Given the description of an element on the screen output the (x, y) to click on. 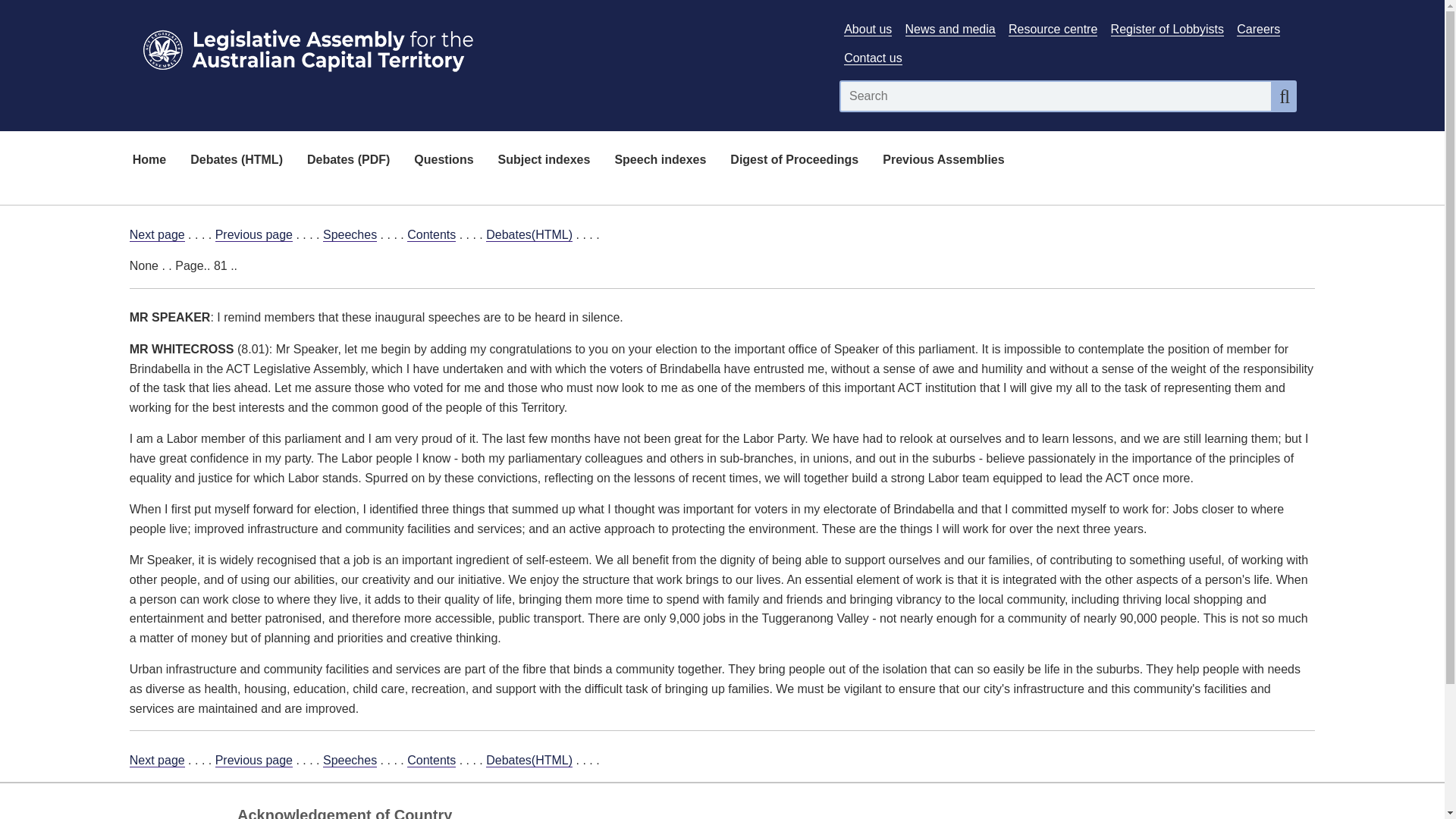
Home (148, 160)
Link to About Us (867, 29)
Contact us (872, 58)
Link to Careers (1257, 29)
Speeches (350, 234)
Next page (156, 234)
Register of Lobbyists (1167, 29)
News and media (950, 29)
Careers (1257, 29)
Speech indexes (659, 160)
